Given the description of an element on the screen output the (x, y) to click on. 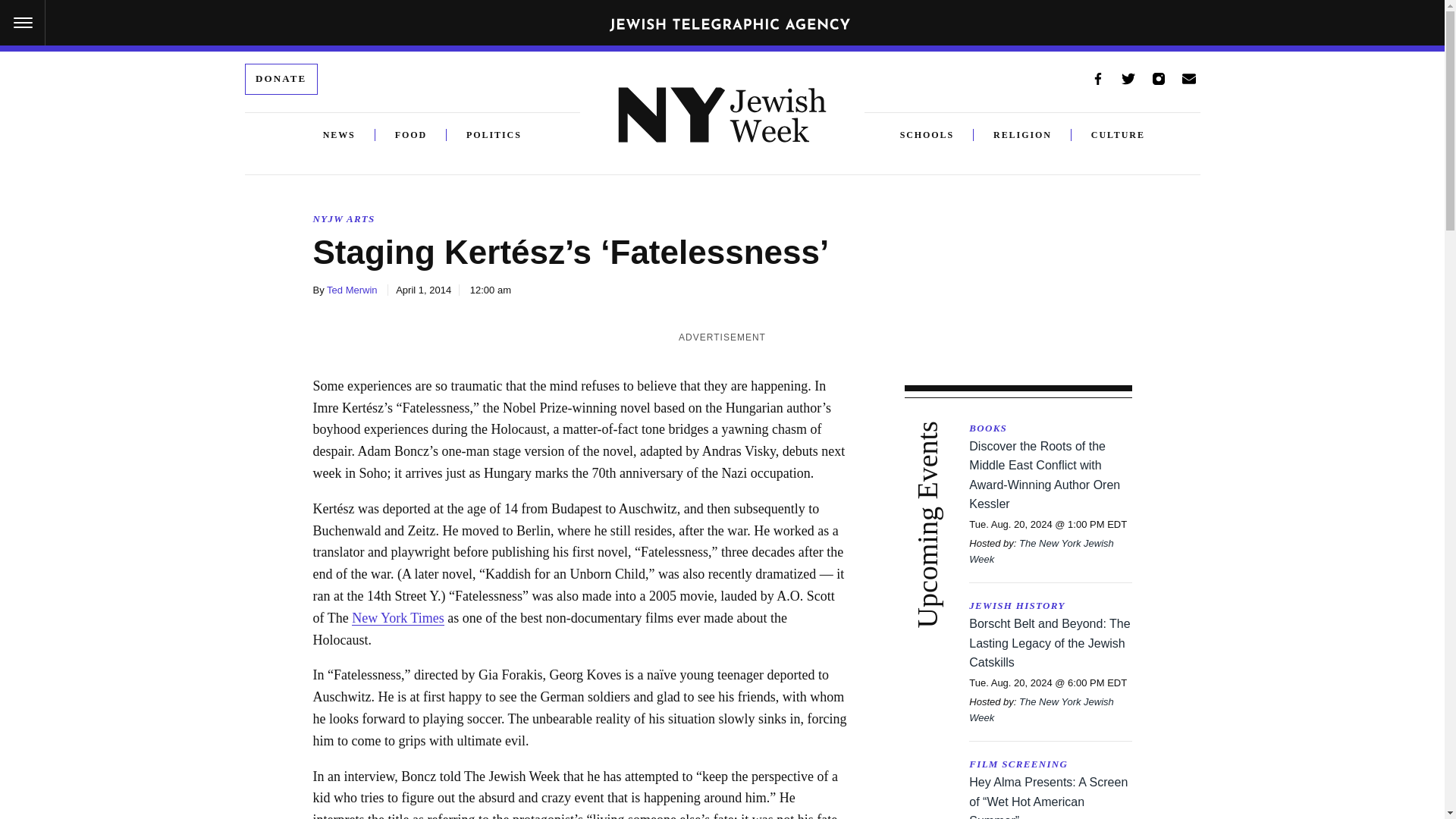
POLITICS (483, 134)
NEWS (338, 134)
Film Screening (1050, 764)
DONATE (280, 79)
RELIGION (1022, 134)
Mobile menu toggle (22, 22)
Books (1050, 428)
FOOD (410, 134)
Jewish History (1050, 606)
CULTURE (1117, 134)
